Given the description of an element on the screen output the (x, y) to click on. 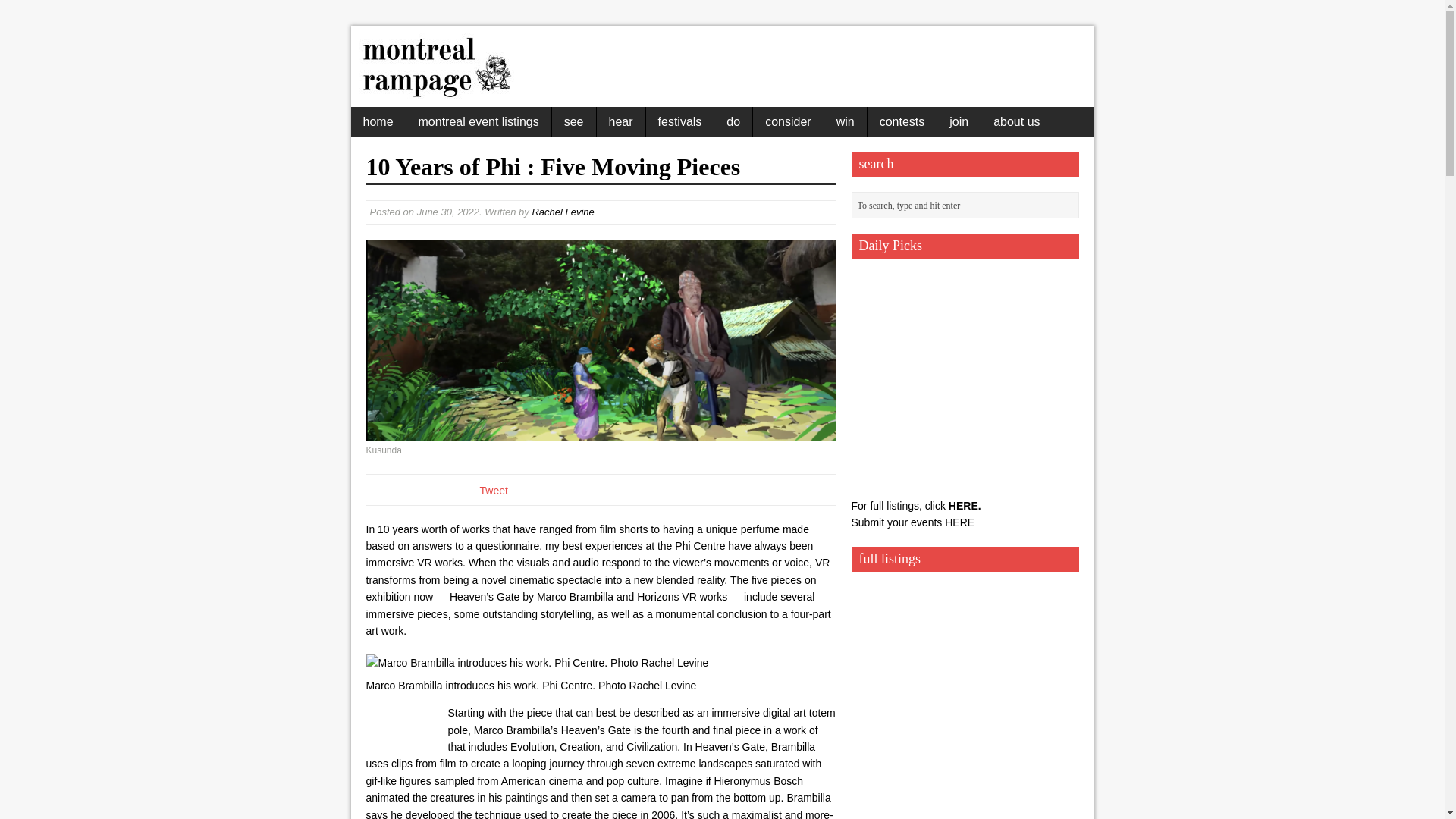
montreal event listings (478, 121)
Posts by Rachel Levine (562, 211)
consider (787, 121)
Tweet (492, 490)
about us (1016, 121)
Kusunda (600, 340)
win (845, 121)
festivals (680, 121)
do (733, 121)
contests (902, 121)
join (958, 121)
Advertisement (807, 61)
Rachel Levine (562, 211)
To search, type and hit enter (966, 205)
Montreal Rampage (435, 91)
